Given the description of an element on the screen output the (x, y) to click on. 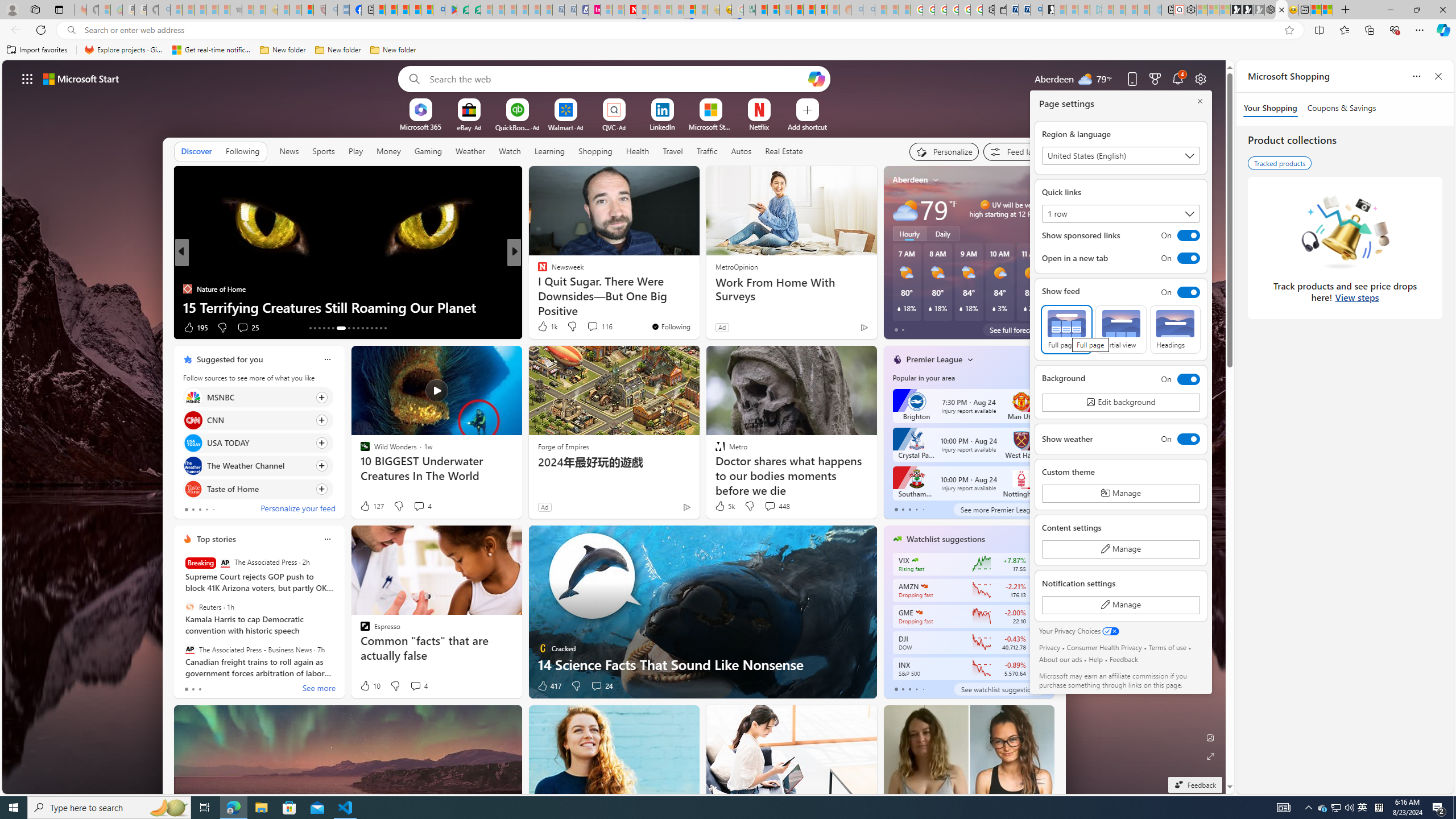
New folder (392, 49)
AutomationID: tab-17 (328, 328)
AutomationID: tab-25 (371, 328)
Traffic (706, 151)
AutomationID: tab-18 (332, 328)
Epic Reactions (537, 288)
View comments 134 Comment (595, 327)
AutomationID: tab-40 (376, 328)
App launcher (27, 78)
